Given the description of an element on the screen output the (x, y) to click on. 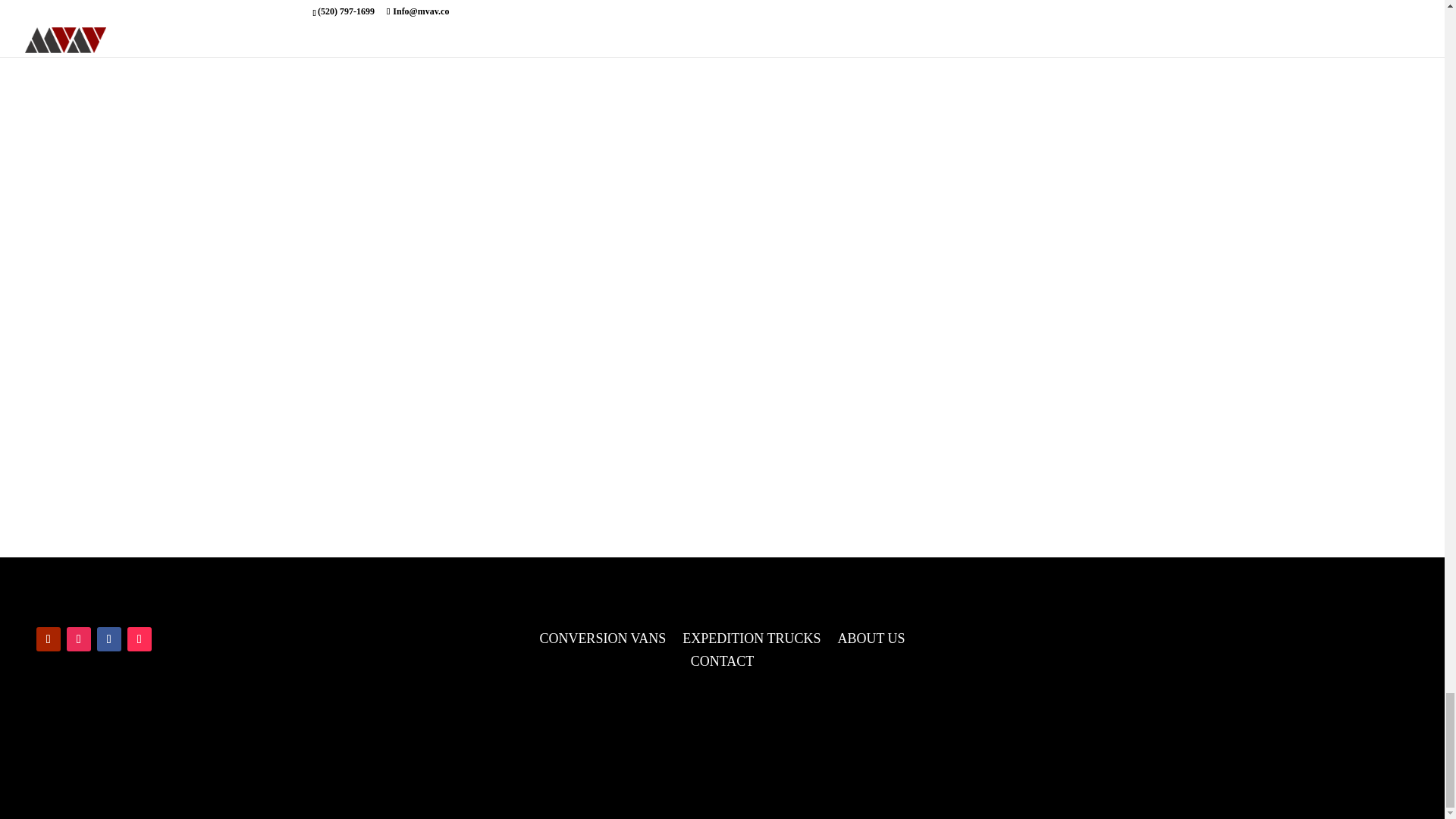
Follow on Youtube (48, 639)
CONVERSION VANS (601, 641)
Follow on Instagram (78, 639)
Follow on TikTok (139, 639)
CONTACT (722, 664)
EXPEDITION TRUCKS (751, 641)
Follow on Facebook (108, 639)
ABOUT US (870, 641)
